Given the description of an element on the screen output the (x, y) to click on. 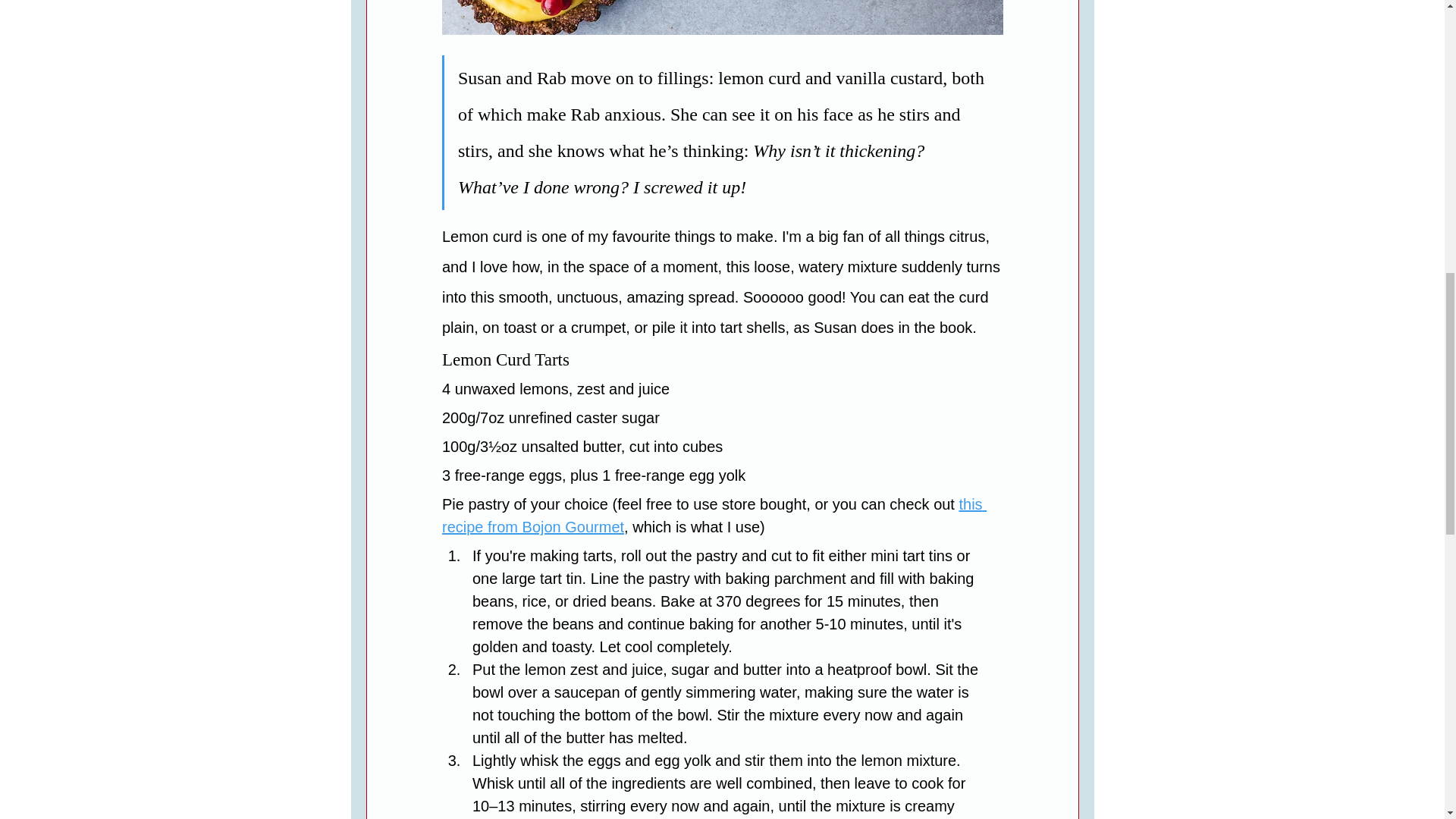
this recipe from Bojon Gourmet (713, 515)
